Given the description of an element on the screen output the (x, y) to click on. 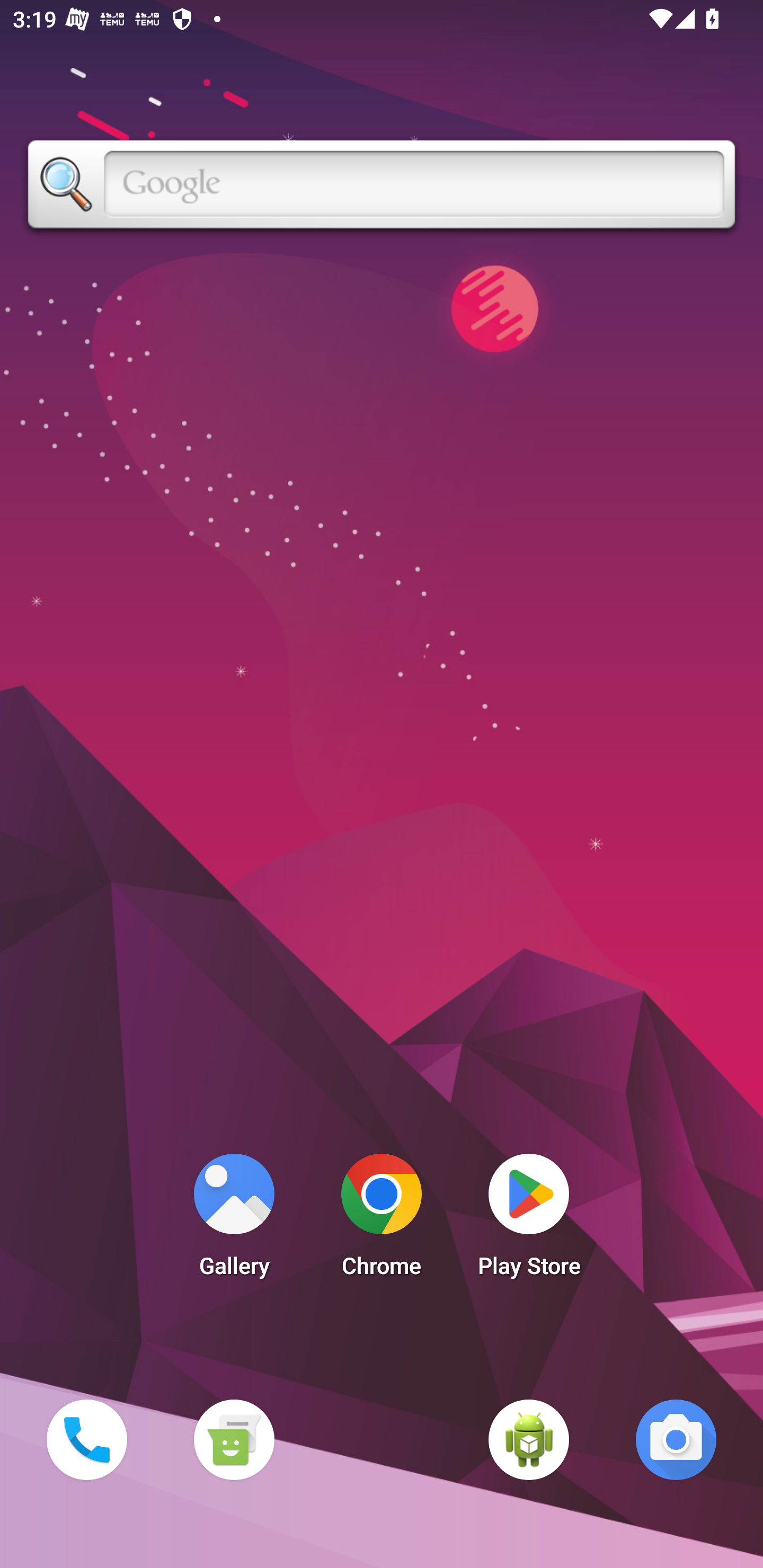
Gallery (233, 1220)
Chrome (381, 1220)
Play Store (528, 1220)
Phone (86, 1439)
Messaging (233, 1439)
WebView Browser Tester (528, 1439)
Camera (676, 1439)
